Given the description of an element on the screen output the (x, y) to click on. 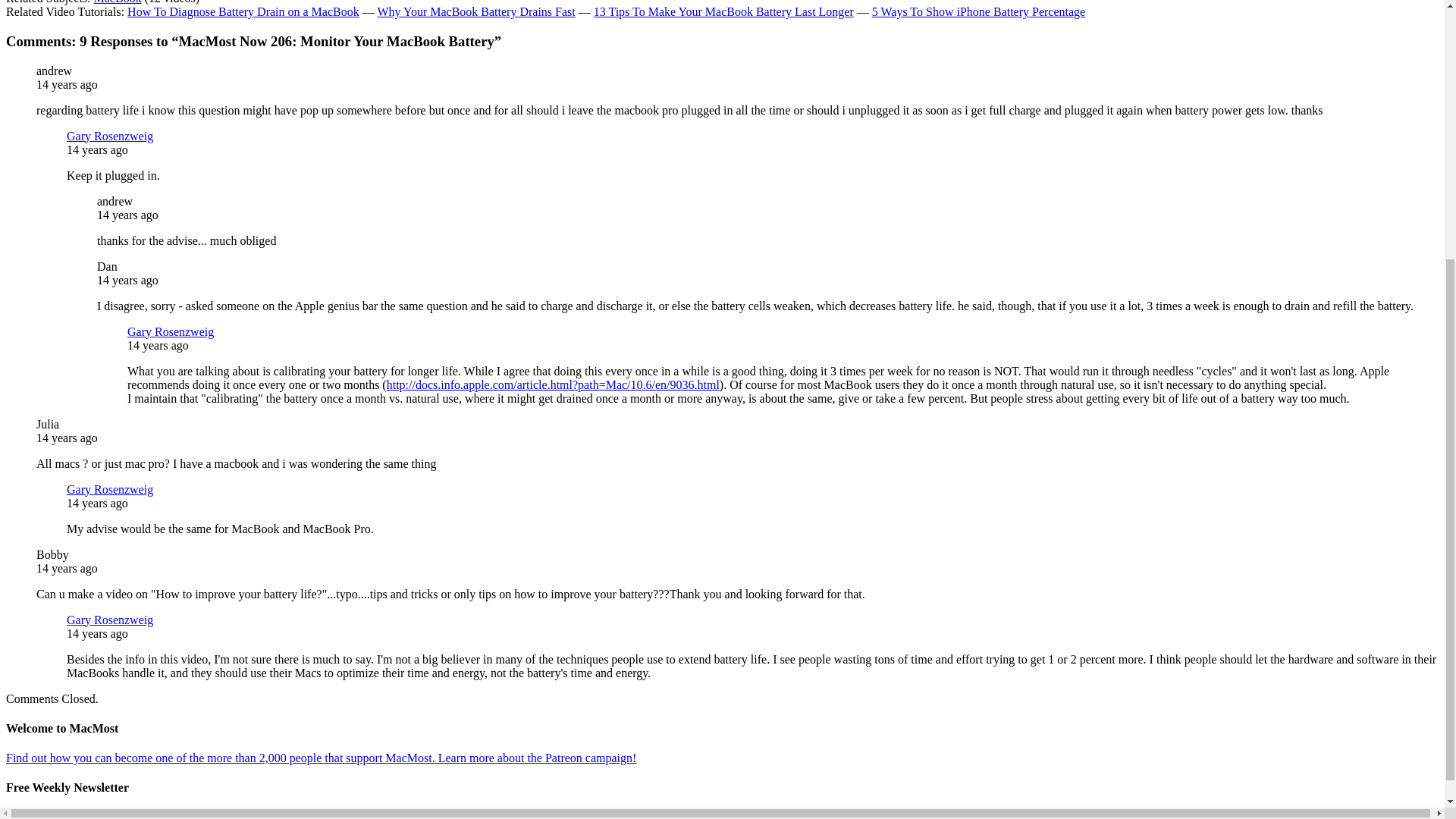
MacBook (117, 2)
Why Your MacBook Battery Drains Fast (476, 11)
5 Ways To Show iPhone Battery Percentage (978, 11)
Gary Rosenzweig (109, 619)
Gary Rosenzweig (109, 489)
Gary Rosenzweig (171, 331)
Gary Rosenzweig (109, 135)
13 Tips To Make Your MacBook Battery Last Longer (723, 11)
How To Diagnose Battery Drain on a MacBook (243, 11)
